Given the description of an element on the screen output the (x, y) to click on. 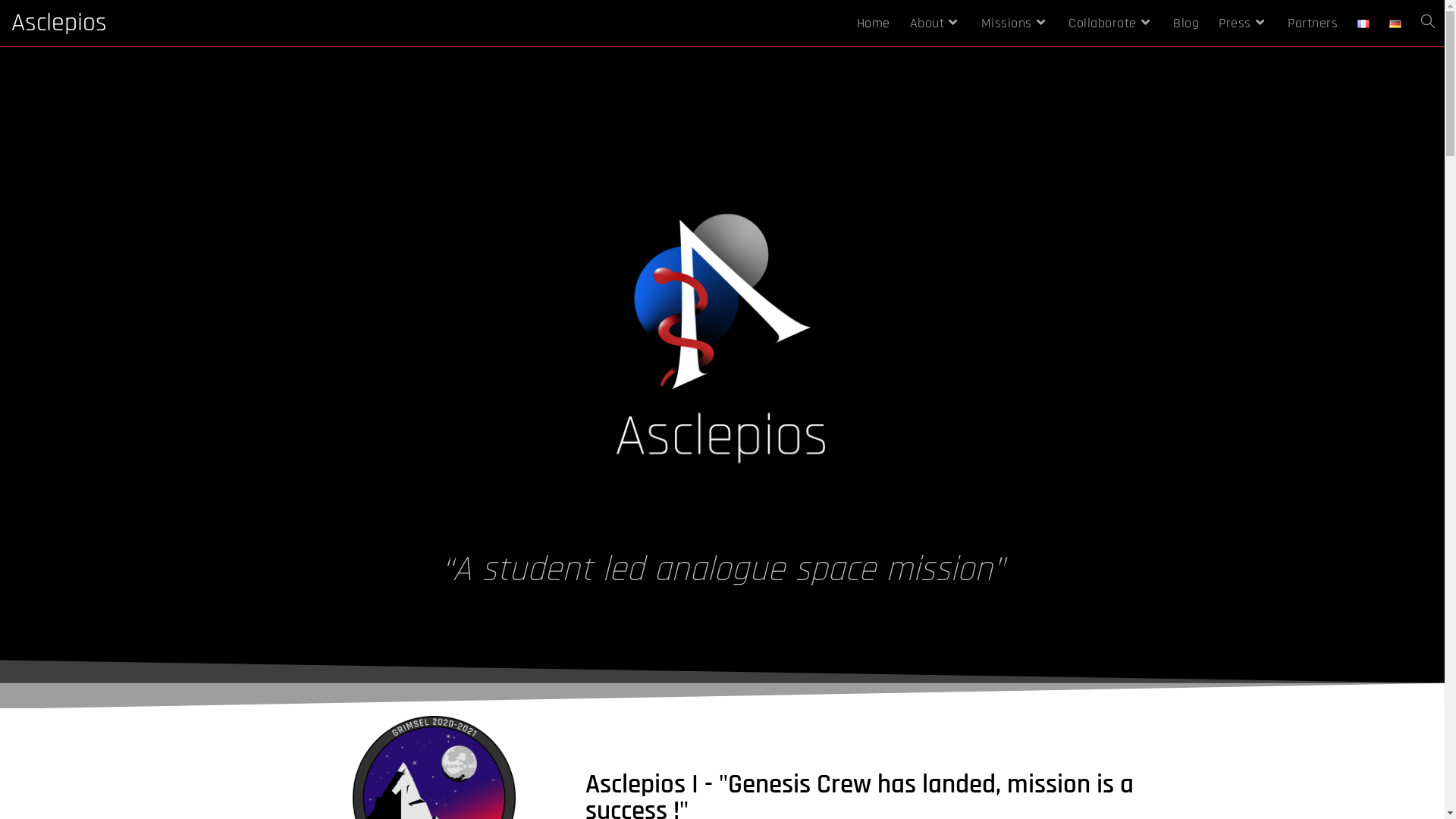
Blog Element type: text (1185, 23)
Press Element type: text (1242, 23)
Missions Element type: text (1014, 23)
Collaborate Element type: text (1110, 23)
Asclepios Element type: text (58, 22)
Home Element type: text (872, 23)
About Element type: text (934, 23)
Partners Element type: text (1312, 23)
